Given the description of an element on the screen output the (x, y) to click on. 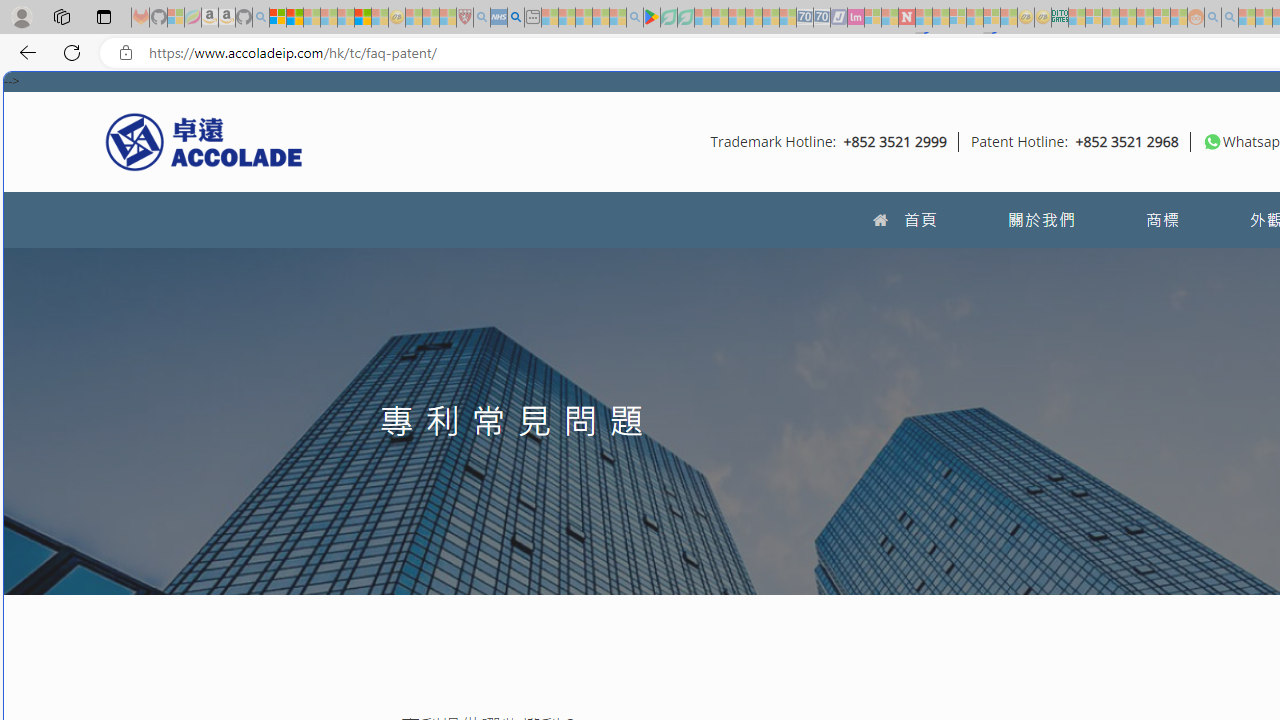
Kinda Frugal - MSN - Sleeping (1144, 17)
Accolade IP HK Logo (203, 141)
Jobs - lastminute.com Investor Portal - Sleeping (855, 17)
